Given the description of an element on the screen output the (x, y) to click on. 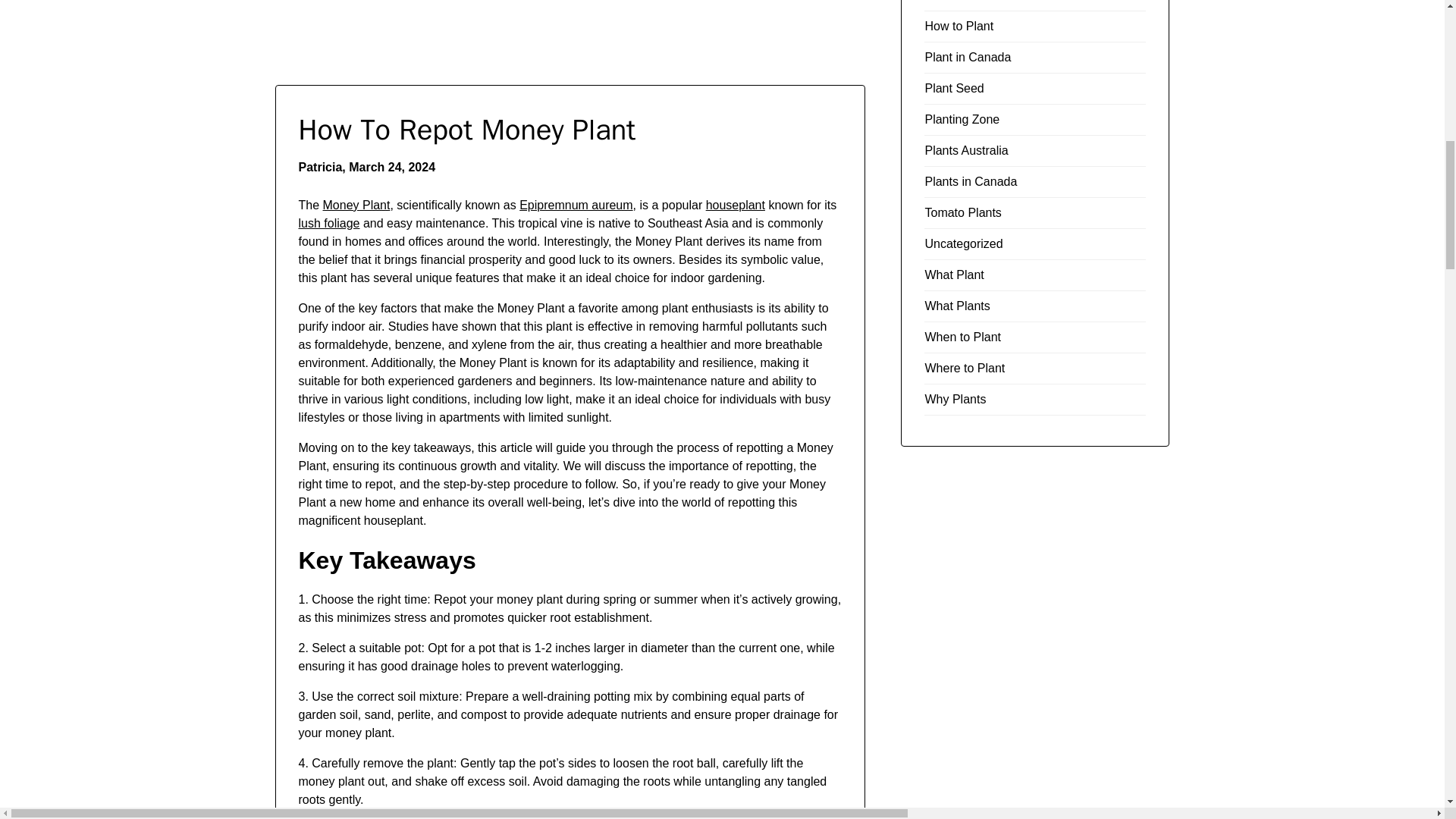
Epipremnum aureum (575, 205)
How To Propagate Money Plant (356, 205)
March 24, 2024 (392, 166)
Planting Zone (961, 119)
What To Plant In Front Of Boxwoods (328, 223)
houseplant (735, 205)
How To Propagate Prayer Plant (735, 205)
Money Plant (356, 205)
lush foliage (328, 223)
Plant in Canada (967, 56)
